Given the description of an element on the screen output the (x, y) to click on. 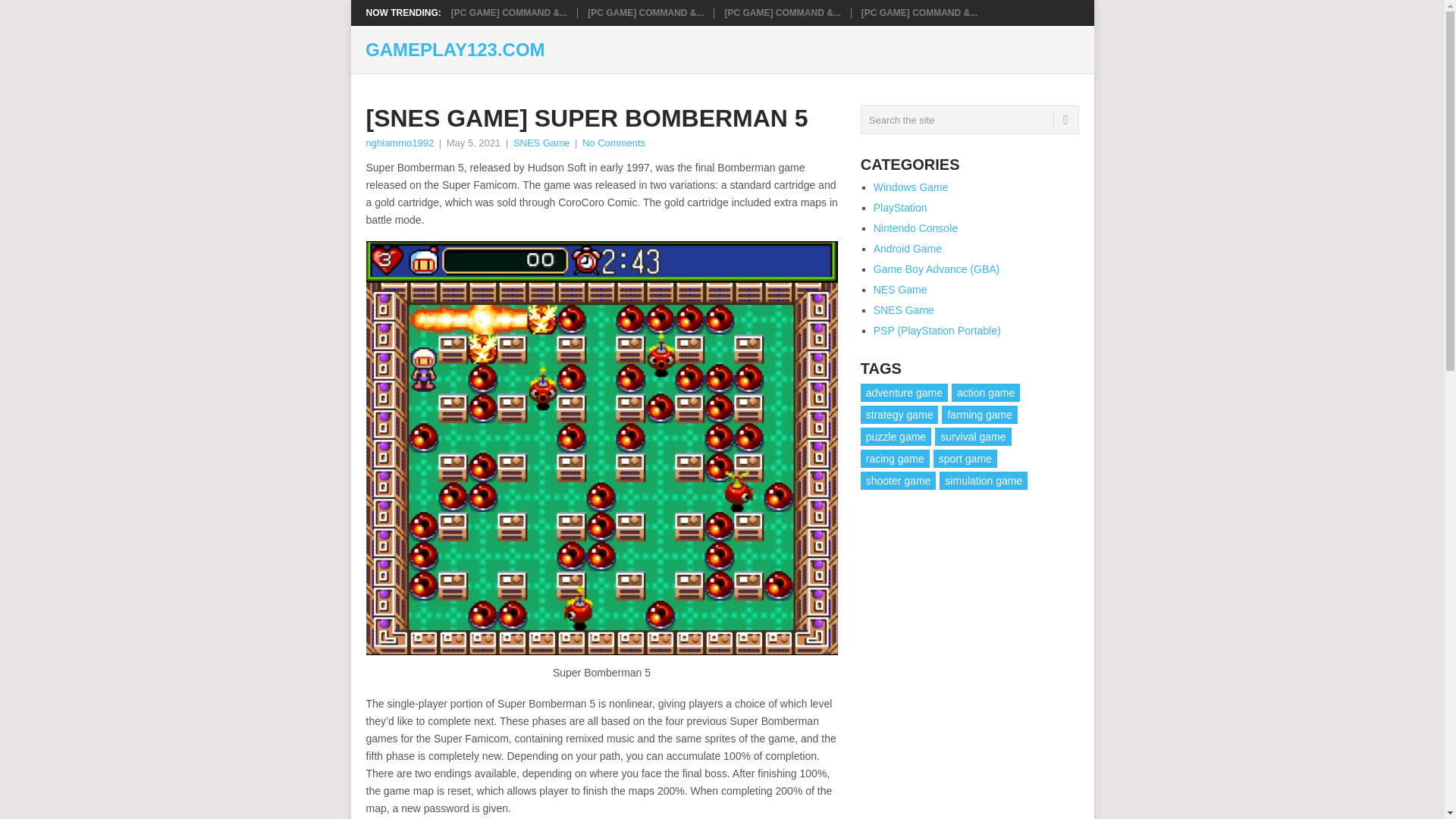
GAMEPLAY123.COM (454, 49)
No Comments (613, 142)
nghiammo1992 (399, 142)
Search the site (969, 119)
PlayStation (900, 207)
Windows Game (911, 186)
Posts by nghiammo1992 (399, 142)
SNES Game (541, 142)
